Given the description of an element on the screen output the (x, y) to click on. 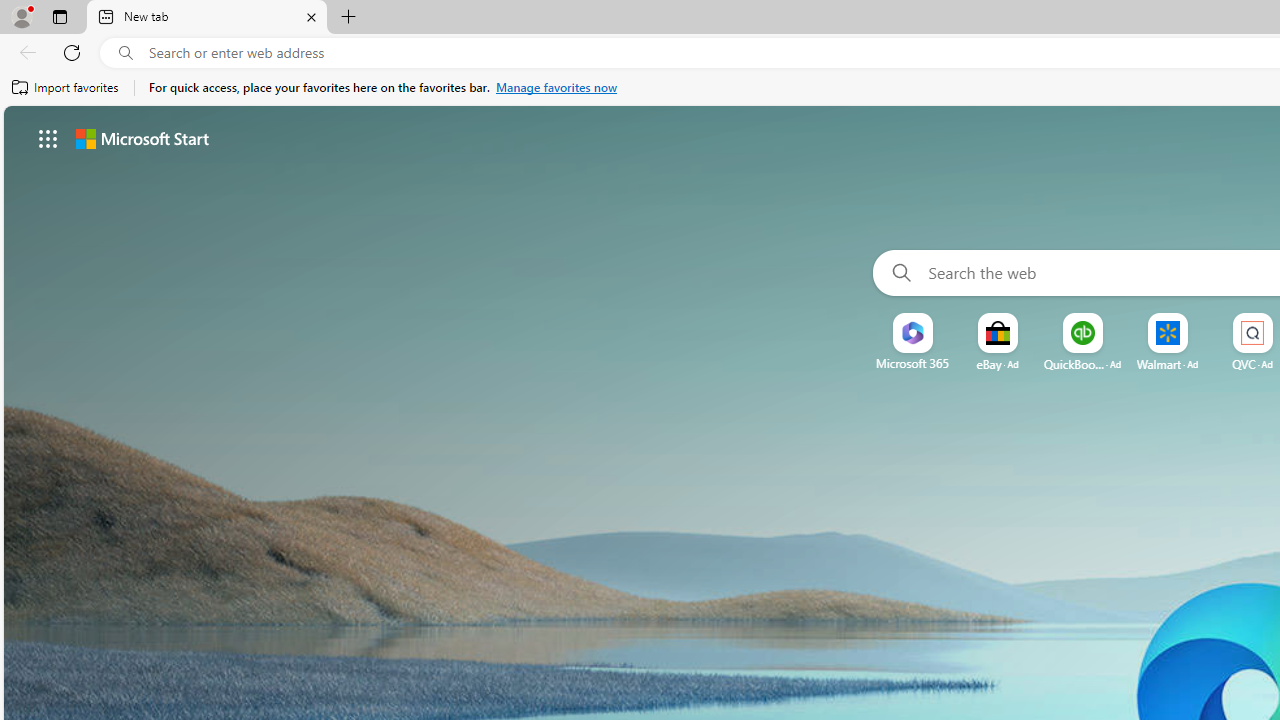
Import favorites (65, 88)
Search icon (125, 53)
Manage favorites now (556, 88)
